Given the description of an element on the screen output the (x, y) to click on. 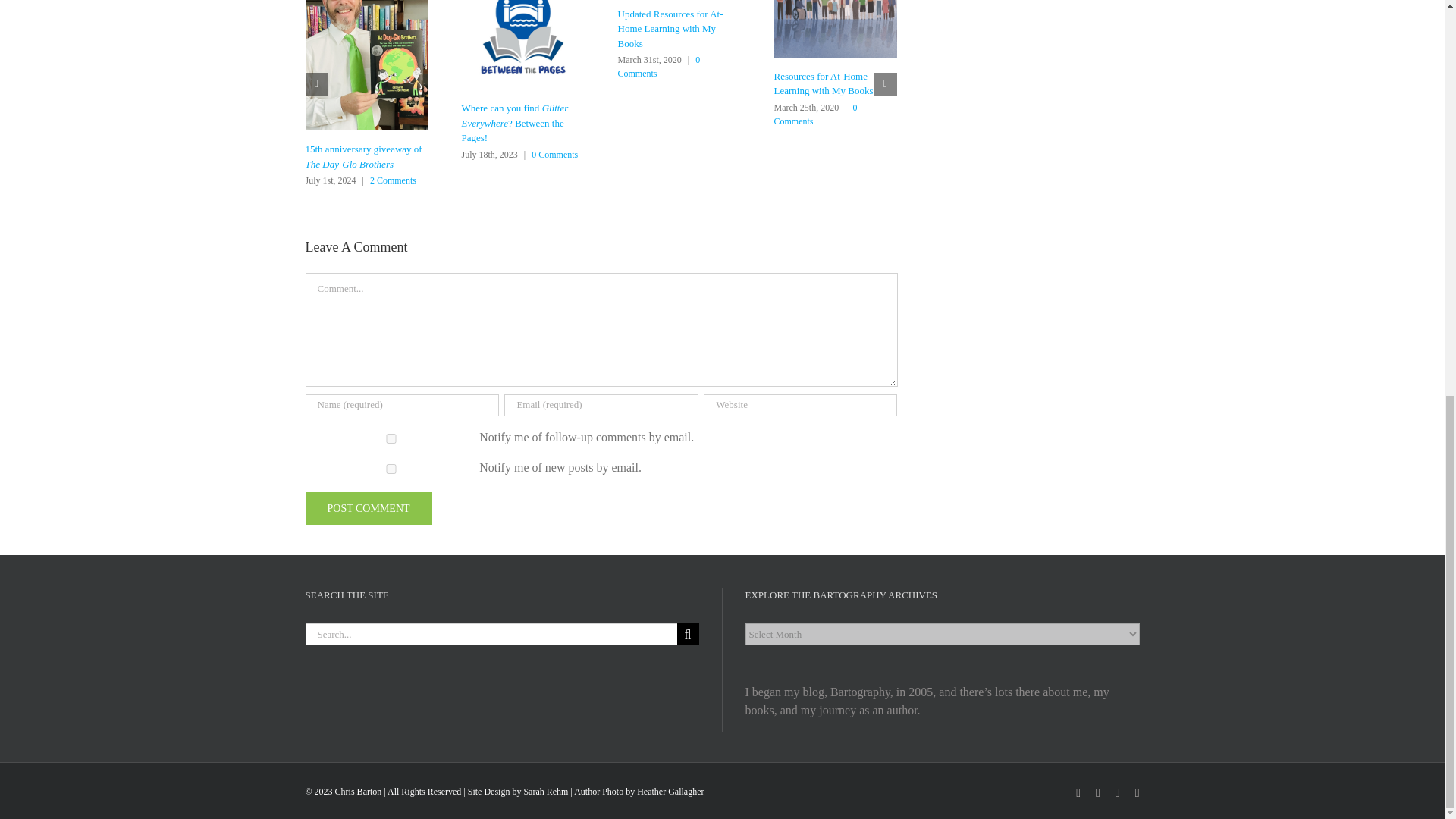
Where can you find Glitter Everywhere? Between the Pages! (514, 122)
Updated Resources for At-Home Learning with My Books (669, 28)
15th anniversary giveaway of The Day-Glo Brothers (363, 156)
subscribe (390, 438)
Post Comment (367, 508)
Resources for At-Home Learning with My Books (822, 83)
subscribe (390, 469)
